Given the description of an element on the screen output the (x, y) to click on. 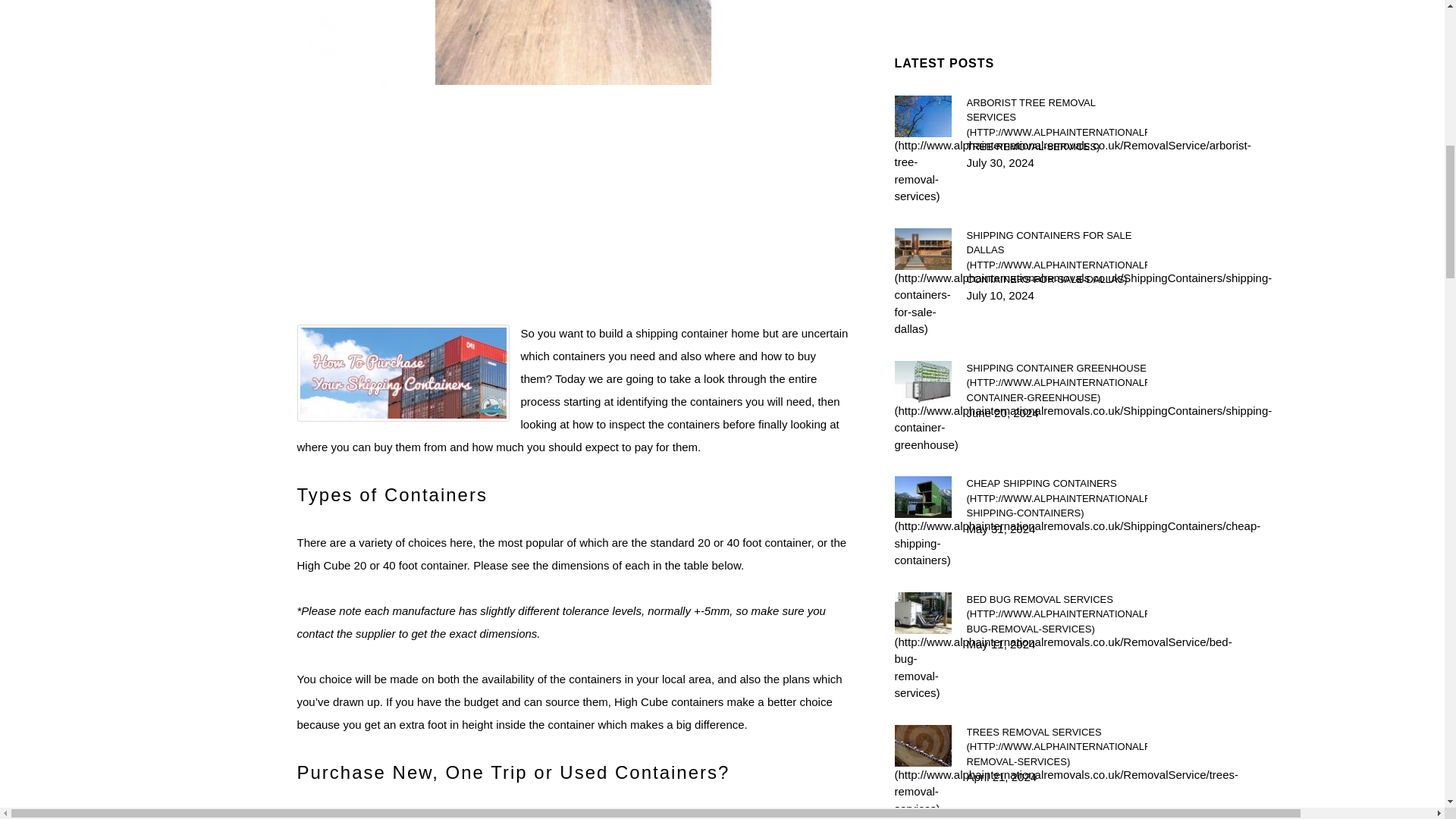
ARBORIST TREE REMOVAL SERVICES (1056, 124)
BED BUG REMOVAL SERVICES (1056, 613)
TREES REMOVAL SERVICES (1056, 746)
SHIPPING CONTAINER GREENHOUSE (1056, 383)
CHEAP SHIPPING CONTAINERS (1056, 497)
SHIPPING CONTAINERS FOR SALE DALLAS (1056, 256)
